Given the description of an element on the screen output the (x, y) to click on. 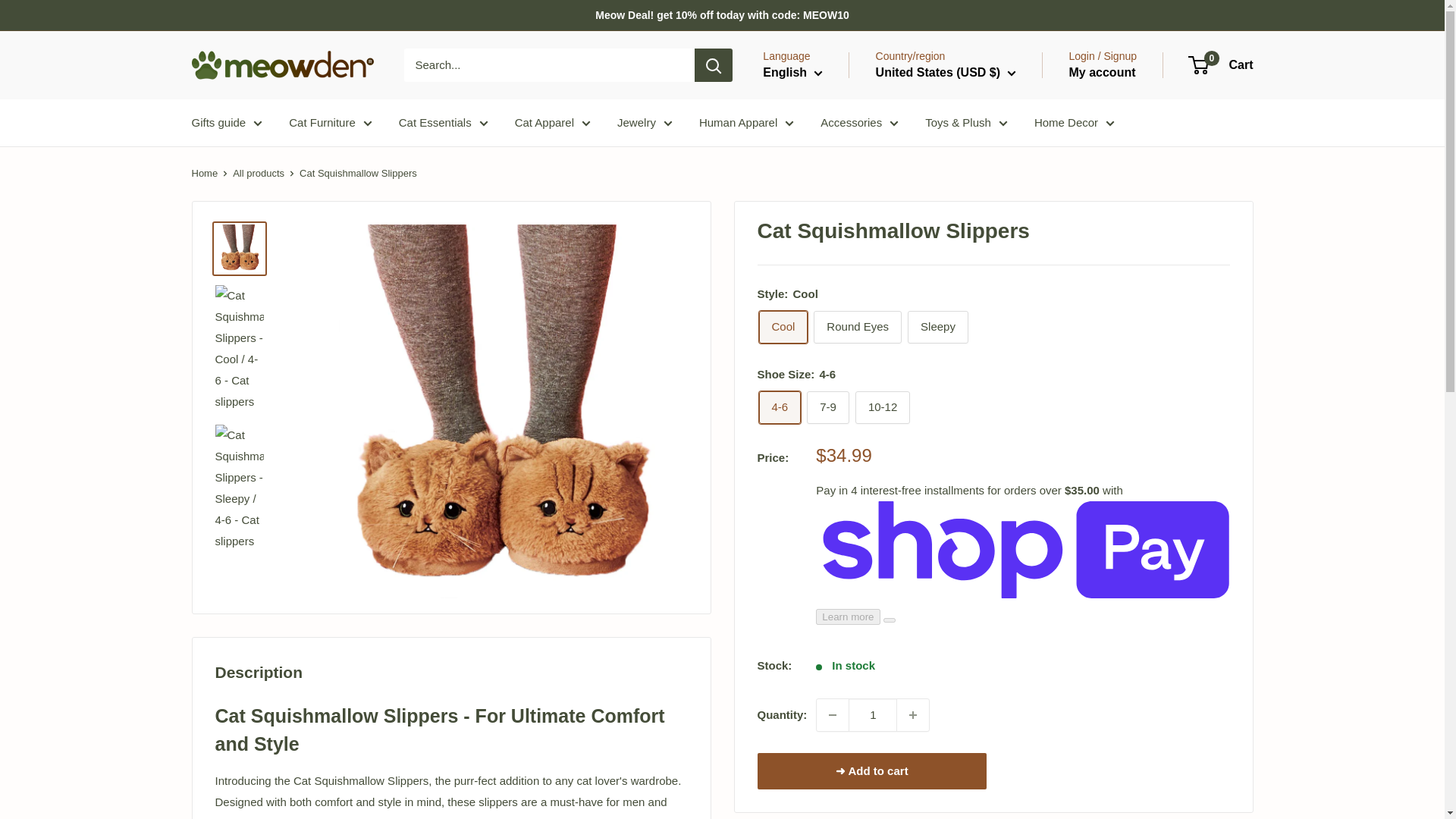
Cool (783, 327)
7-9 (827, 407)
Increase quantity by 1 (912, 715)
Sleepy (937, 327)
1 (872, 715)
Round Eyes (857, 327)
10-12 (883, 407)
4-6 (779, 407)
Decrease quantity by 1 (832, 715)
